Given the description of an element on the screen output the (x, y) to click on. 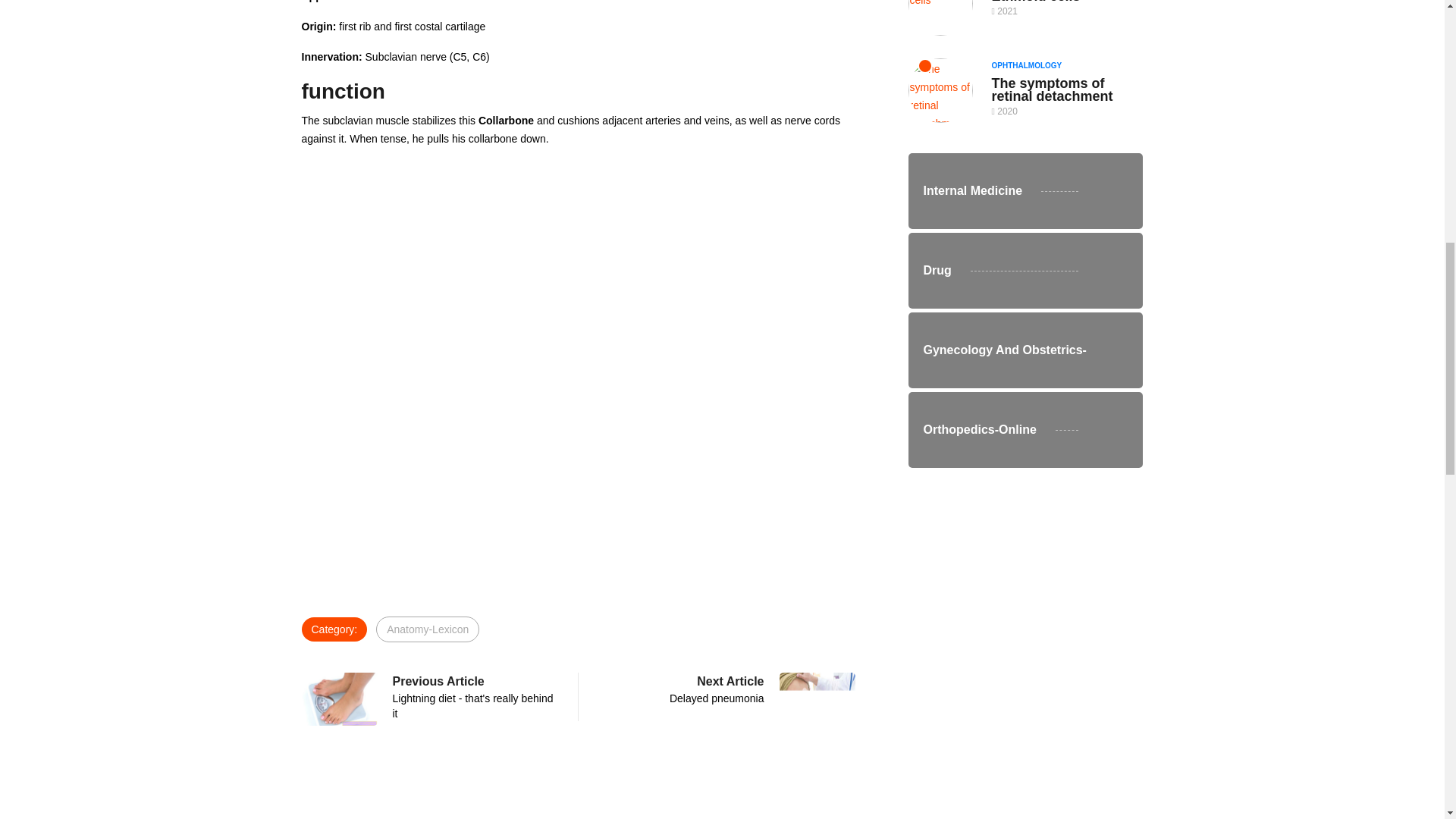
Anatomy-Lexicon (473, 696)
